Given the description of an element on the screen output the (x, y) to click on. 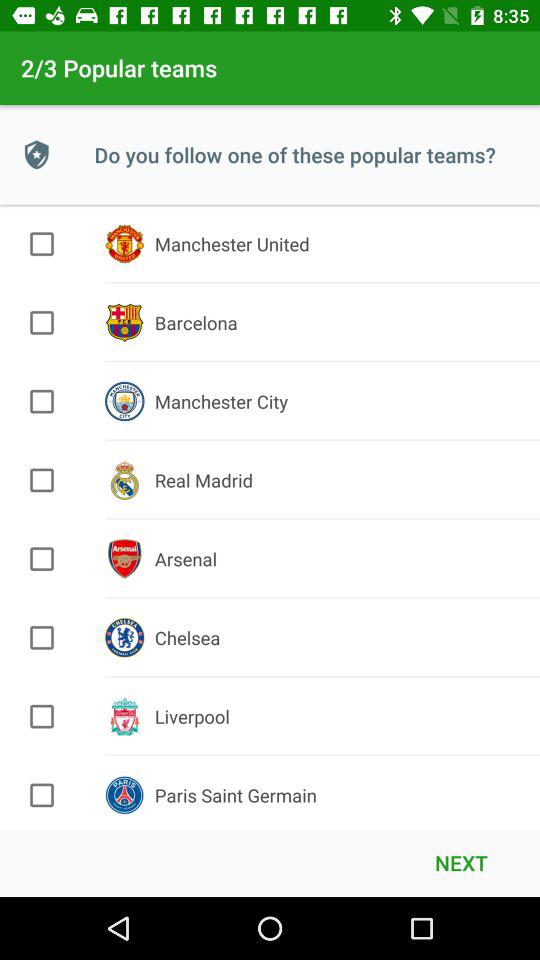
select the column for the barcelona page (42, 322)
